Given the description of an element on the screen output the (x, y) to click on. 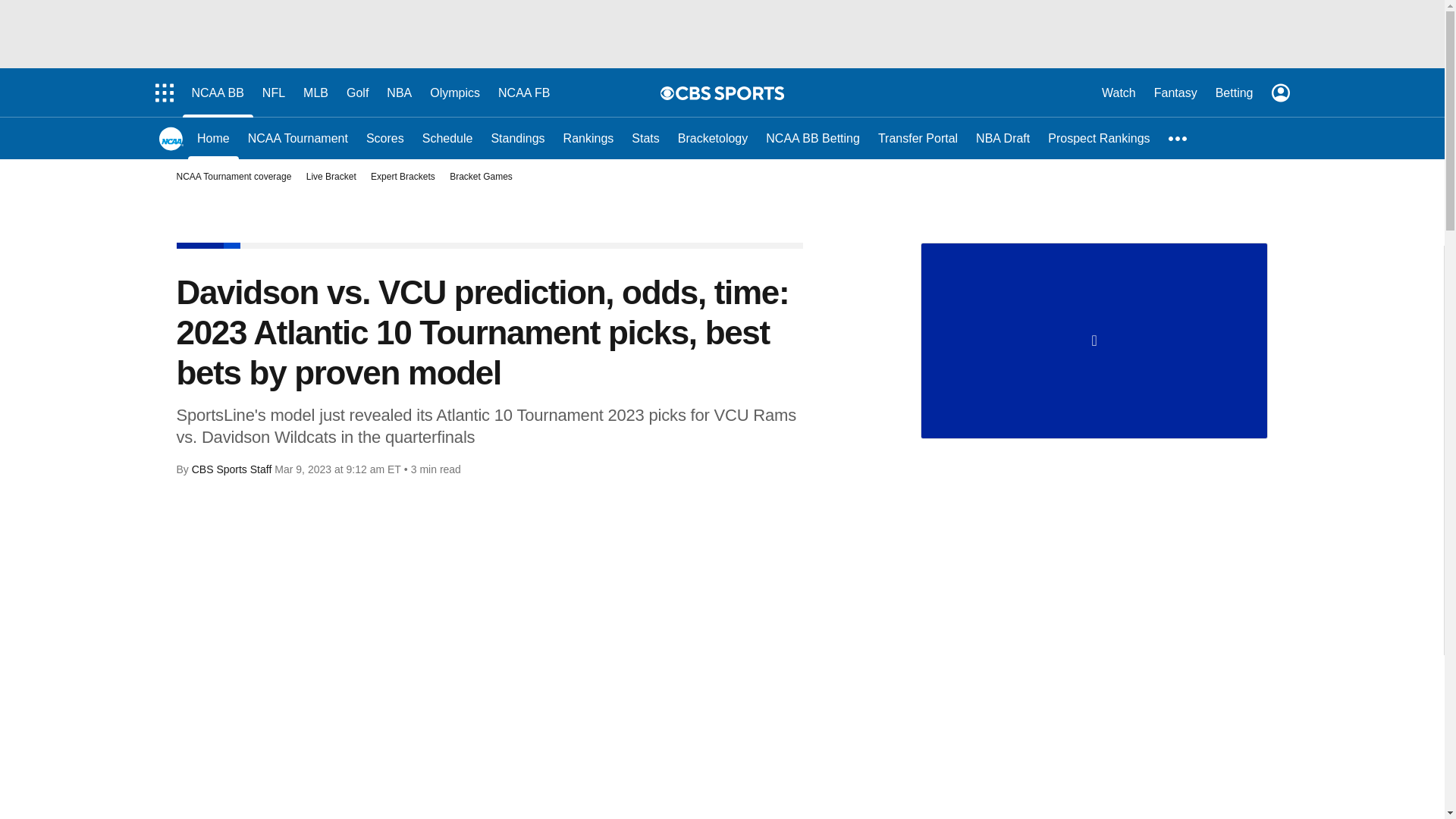
NCAA BB (216, 92)
CBS Logo (729, 92)
CBS Eye (667, 92)
